Given the description of an element on the screen output the (x, y) to click on. 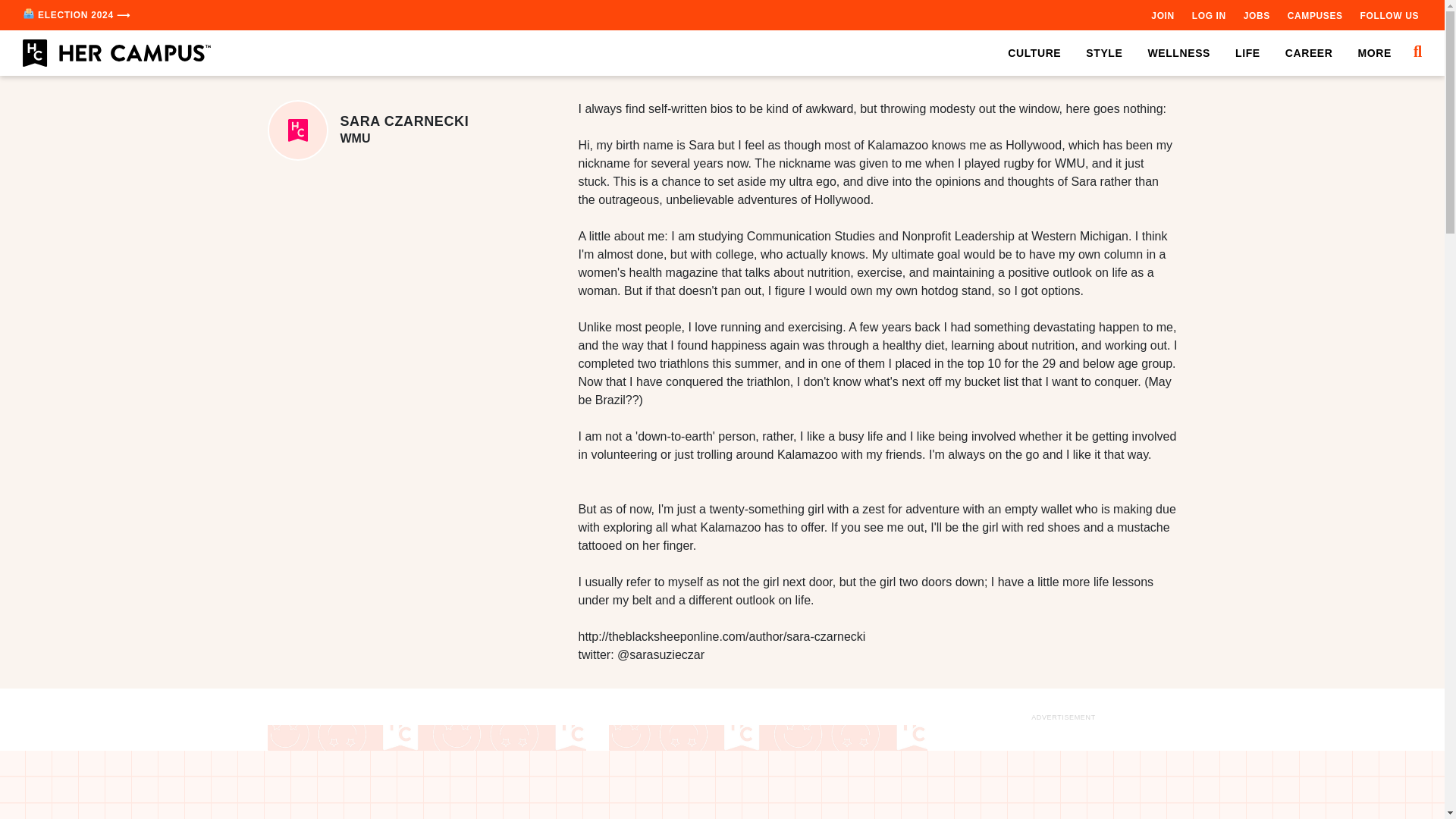
CAMPUSES (1314, 15)
The Nicest Man in Hollywood 2 (767, 771)
JOIN (1162, 15)
How to Make Every Year YOUR Year 1 (425, 771)
JOBS (1256, 15)
LOG IN (1208, 15)
